Given the description of an element on the screen output the (x, y) to click on. 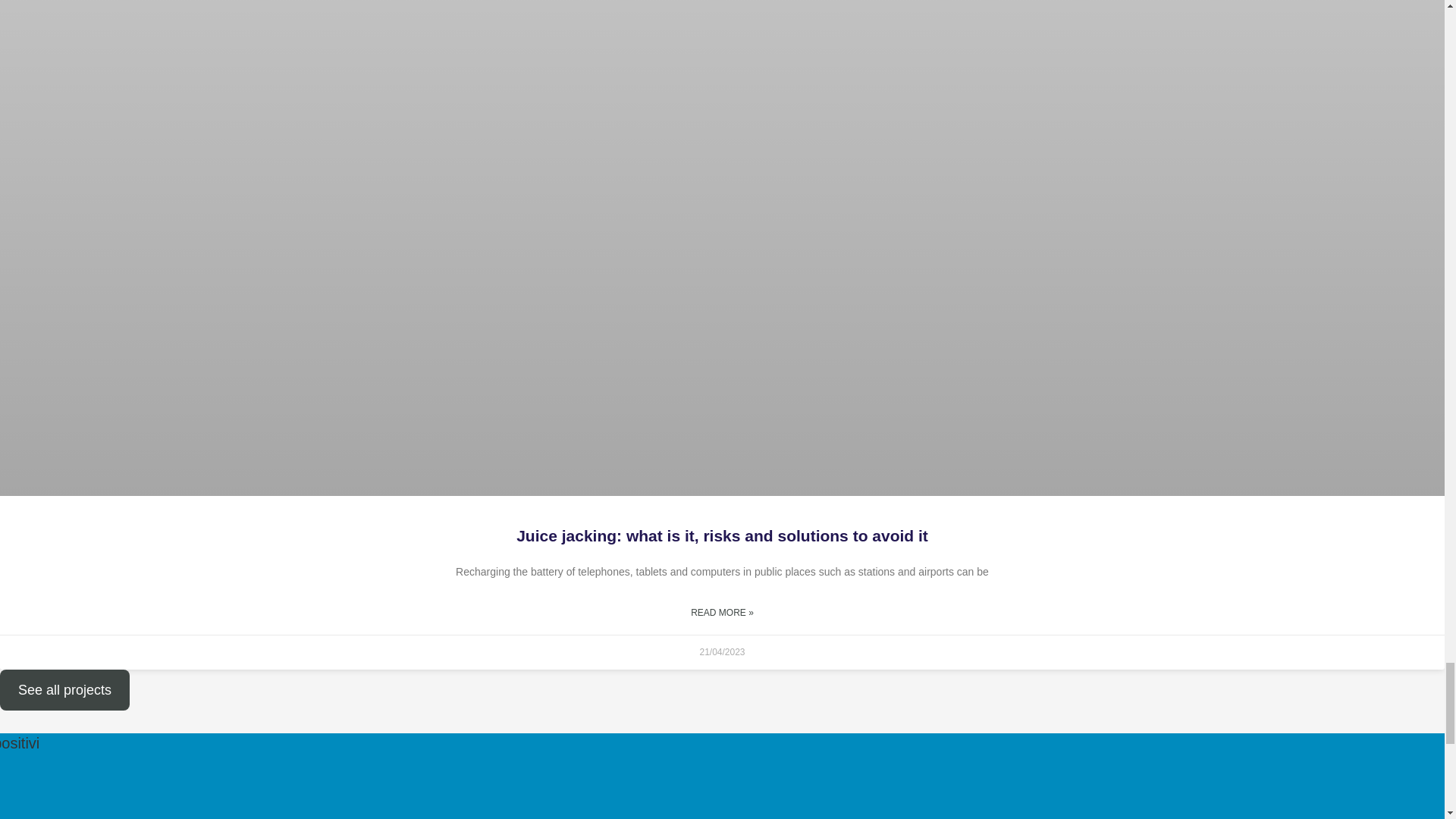
Juice jacking: what is it, risks and solutions to avoid it (722, 535)
See all projects (64, 689)
